Given the description of an element on the screen output the (x, y) to click on. 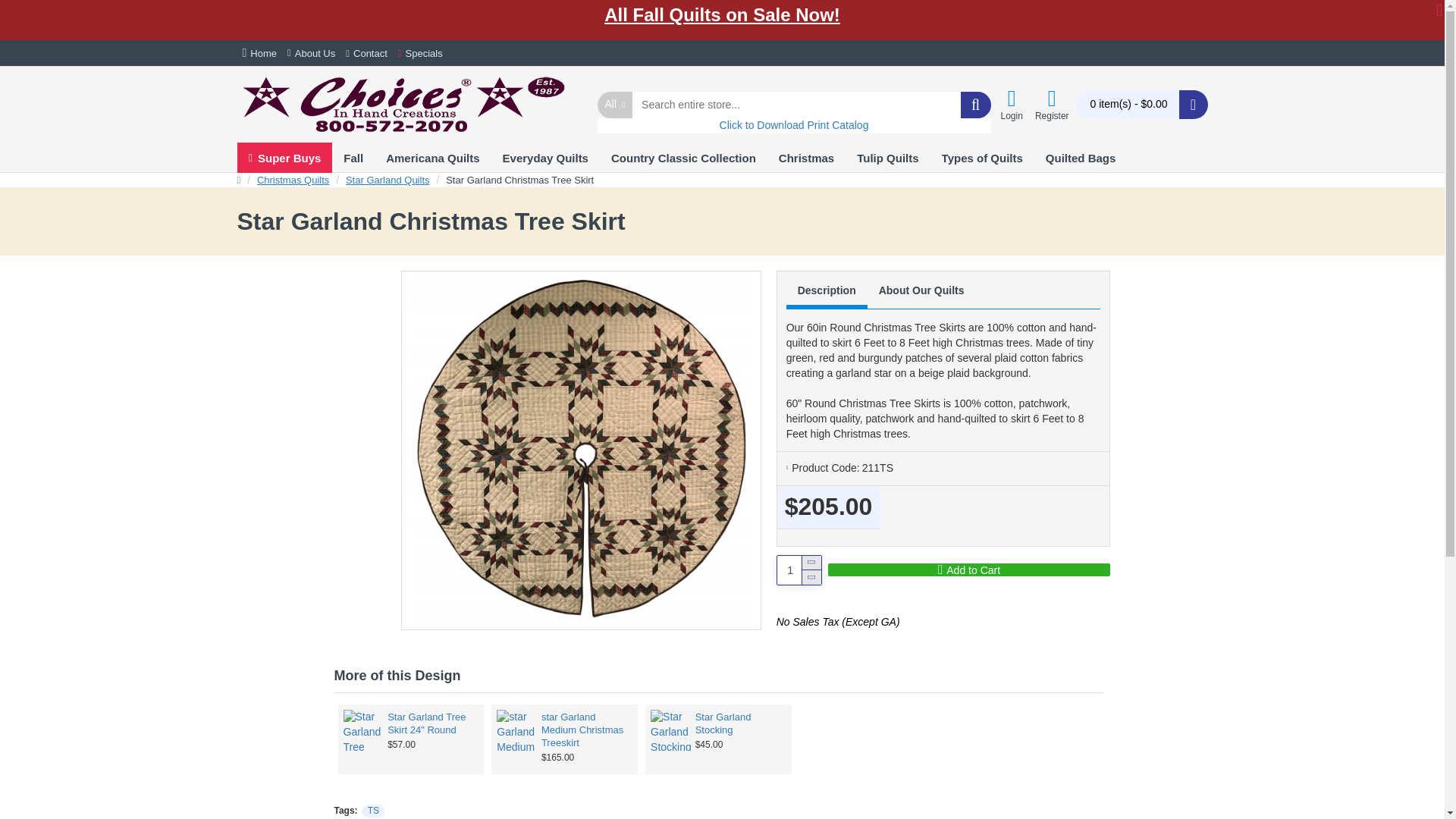
Contact (366, 53)
star Garland Medium Christmas Treeskirt (516, 730)
Specials (420, 53)
Home (258, 53)
Star Garland Stocking (670, 730)
Star Garland Tree Skirt 24" Round (363, 730)
All Fall Quilts on Sale Now! (722, 14)
1 (799, 570)
Star Garland Christmas Tree Skirt (580, 450)
About Us (311, 53)
